Given the description of an element on the screen output the (x, y) to click on. 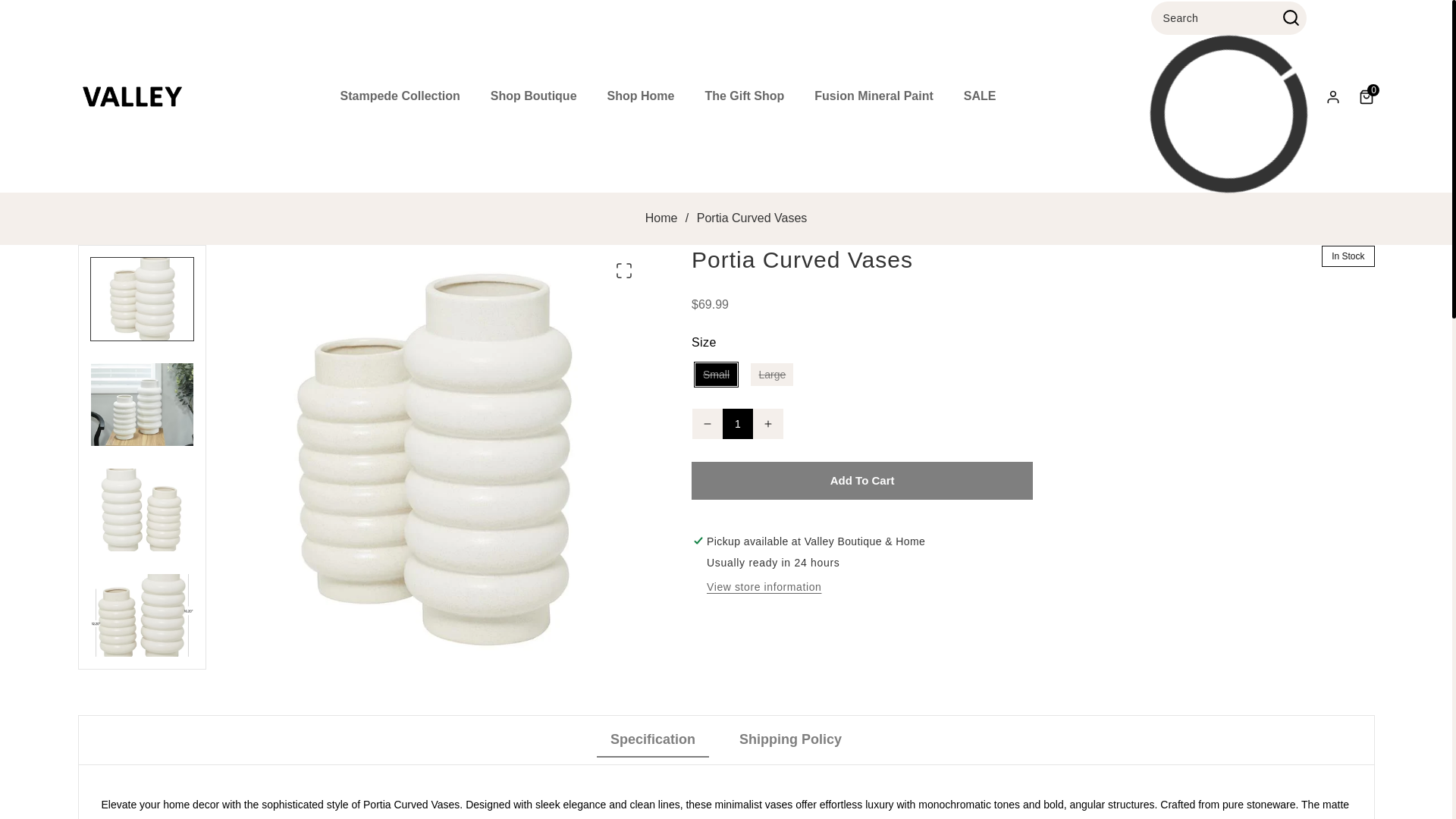
Home (661, 218)
1 (737, 423)
Skip to content (45, 17)
